Given the description of an element on the screen output the (x, y) to click on. 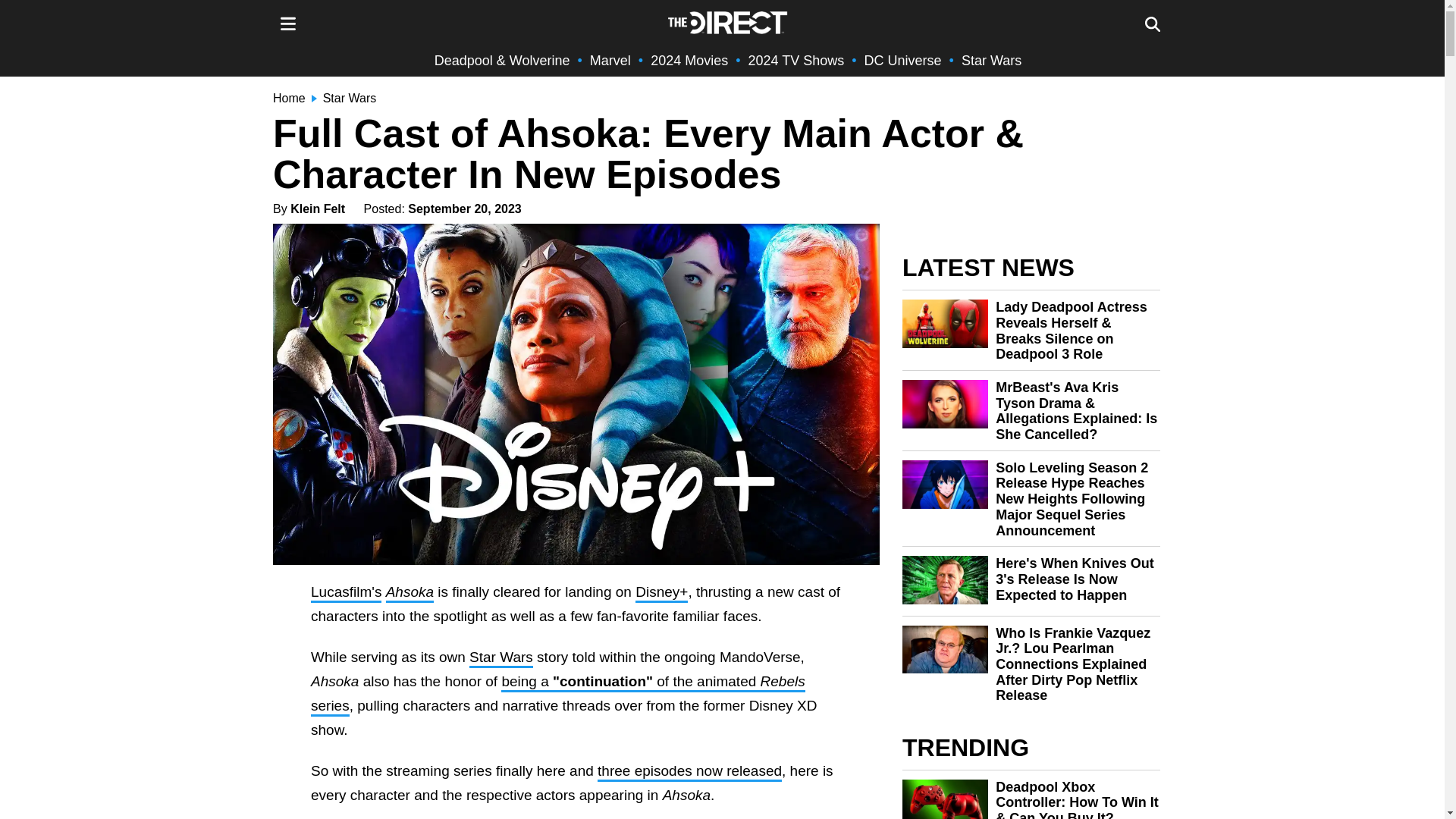
DC Universe (903, 60)
2024 TV Shows (796, 60)
Marvel (609, 60)
Star Wars (991, 60)
2024 Movies (689, 60)
